Given the description of an element on the screen output the (x, y) to click on. 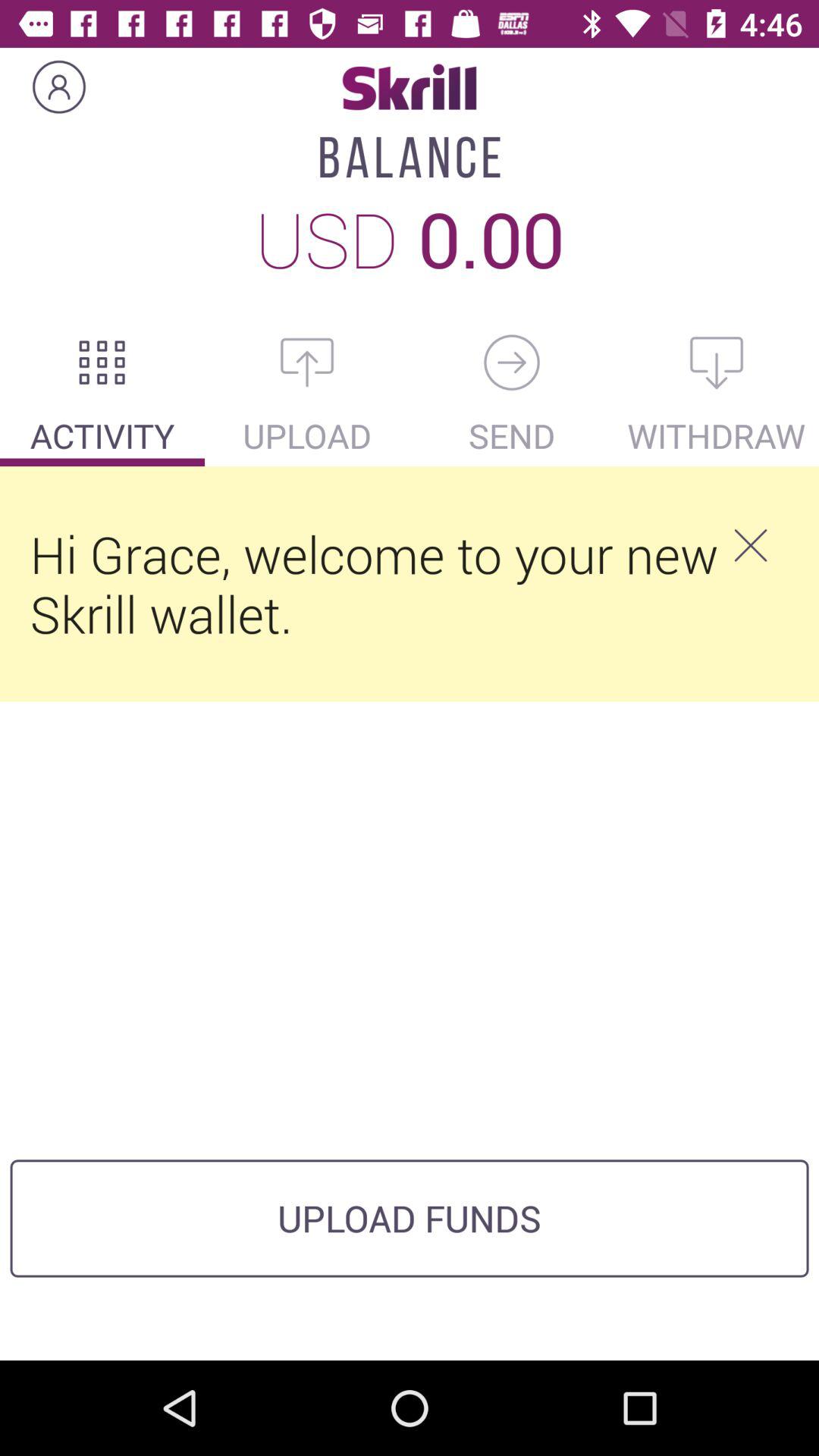
select icon above upload item (306, 362)
